Given the description of an element on the screen output the (x, y) to click on. 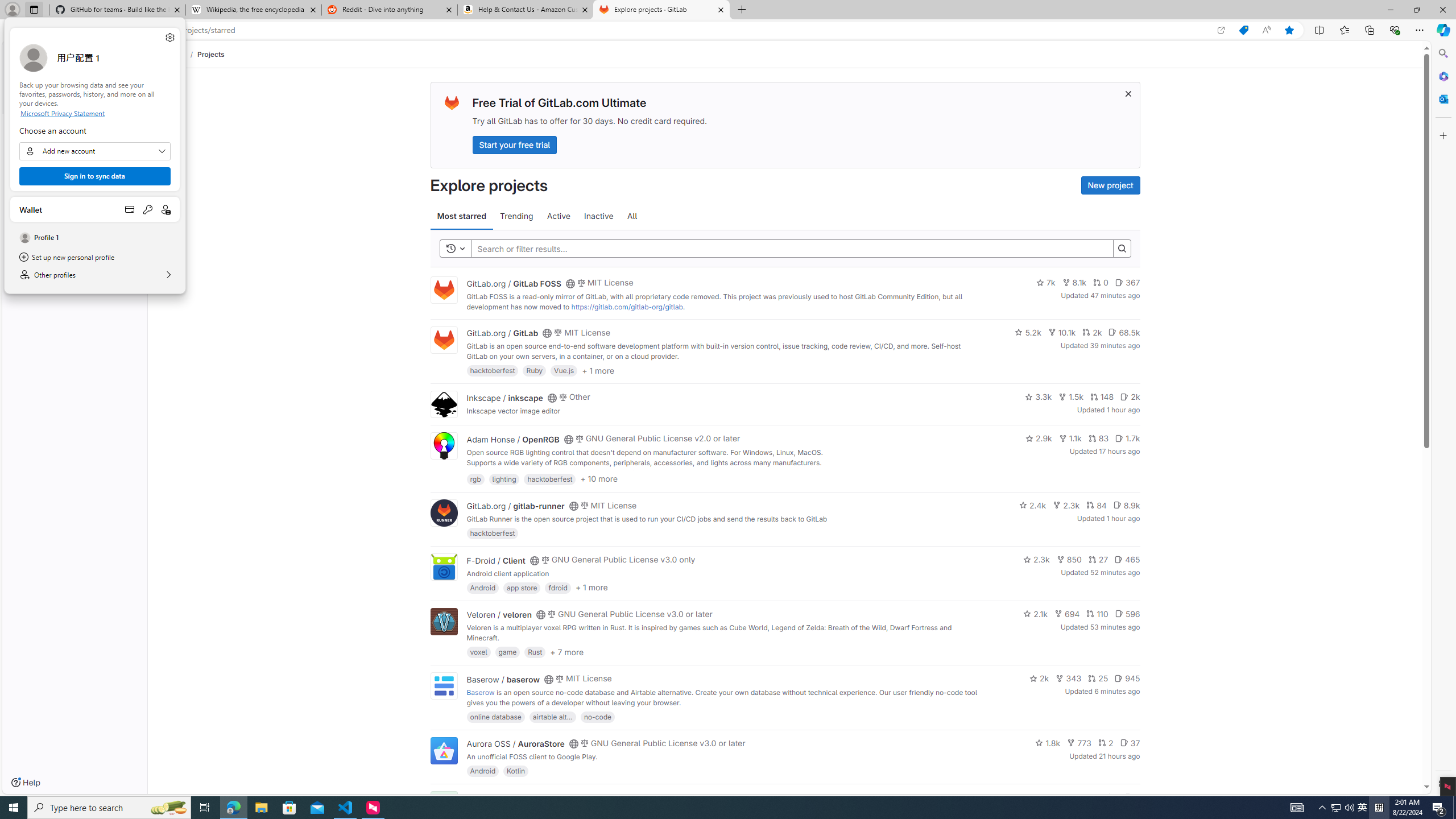
Q2790: 100% (1349, 807)
Dismiss trial promotion (1128, 93)
27 (1097, 559)
Microsoft Edge - 1 running window (233, 807)
New project (1110, 185)
Help & Contact Us - Amazon Customer Service (525, 9)
https://openrgb.org (563, 472)
F-Droid / Client (495, 560)
Microsoft Privacy Statement (94, 112)
Open payment methods (129, 208)
1.1k (1069, 438)
